Given the description of an element on the screen output the (x, y) to click on. 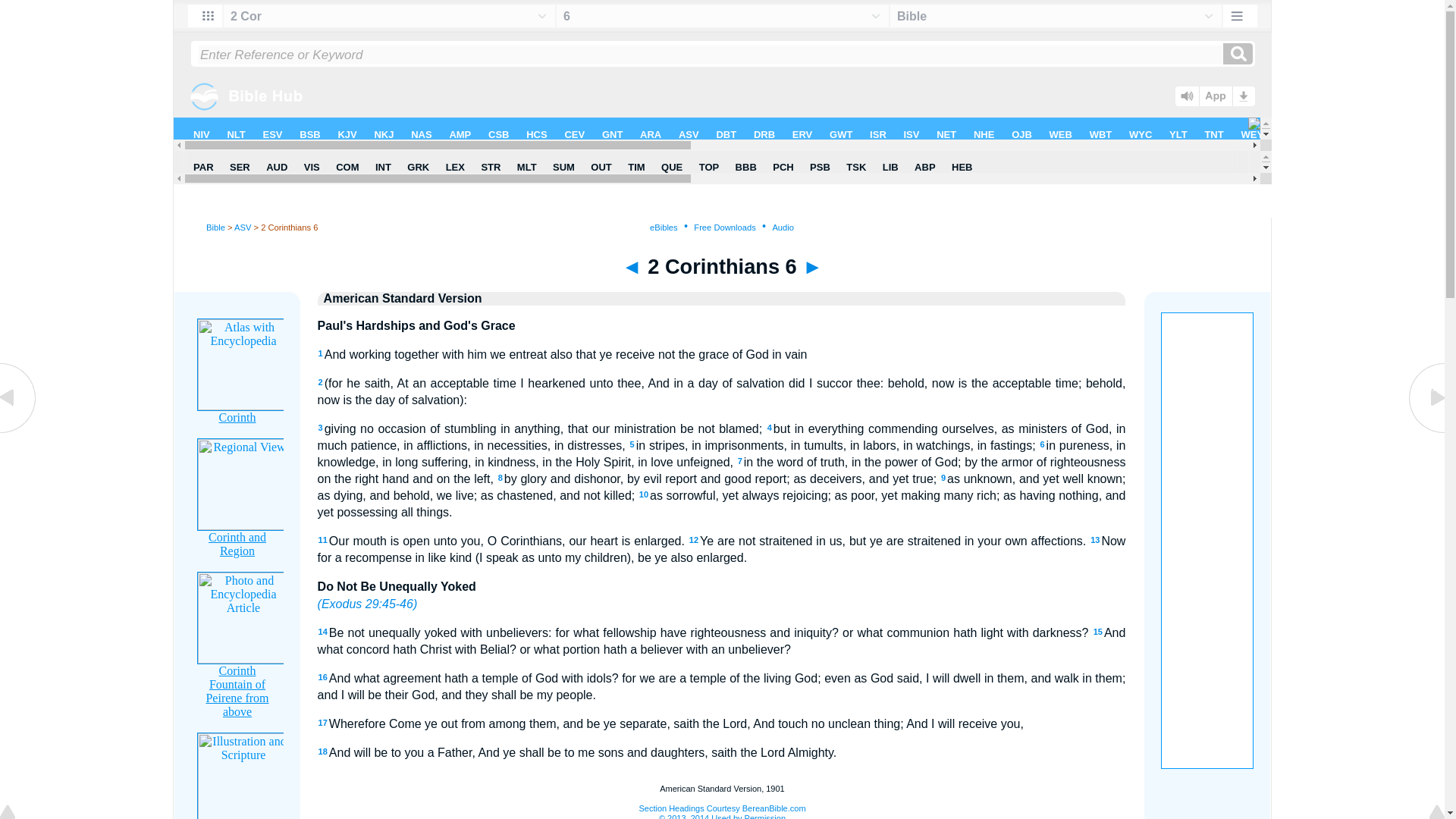
12 (693, 539)
17 (322, 722)
10 (643, 493)
ASV (242, 226)
Bible (215, 226)
Top of Page (18, 813)
14 (322, 631)
16 (322, 676)
13 (1094, 539)
15 (1097, 631)
